Given the description of an element on the screen output the (x, y) to click on. 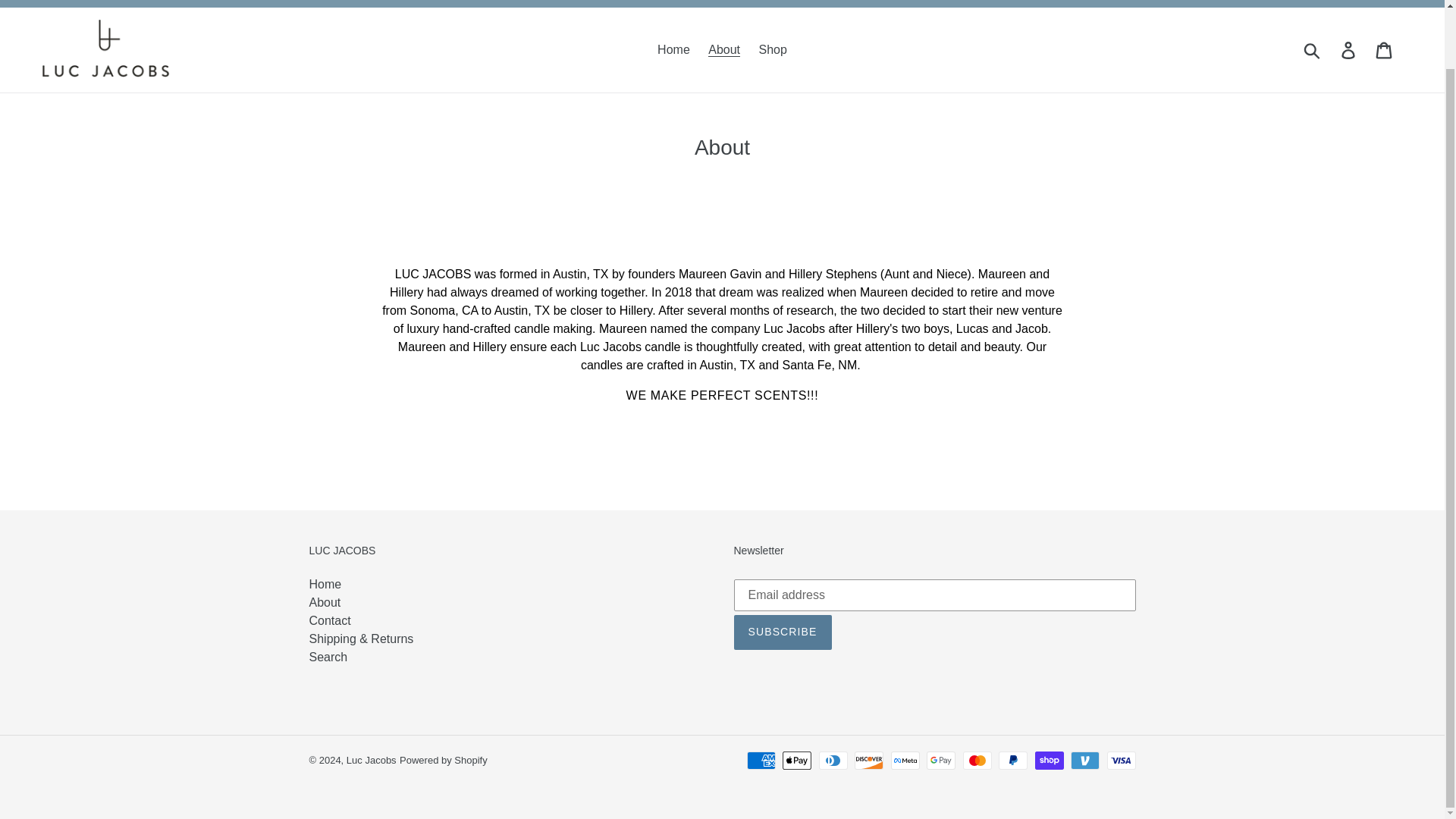
Log in (1349, 49)
Home (673, 49)
About (324, 602)
Shop (772, 49)
Home (325, 584)
About (724, 49)
Cart (1385, 49)
SUBSCRIBE (782, 632)
Submit (1313, 49)
Search (327, 656)
